Given the description of an element on the screen output the (x, y) to click on. 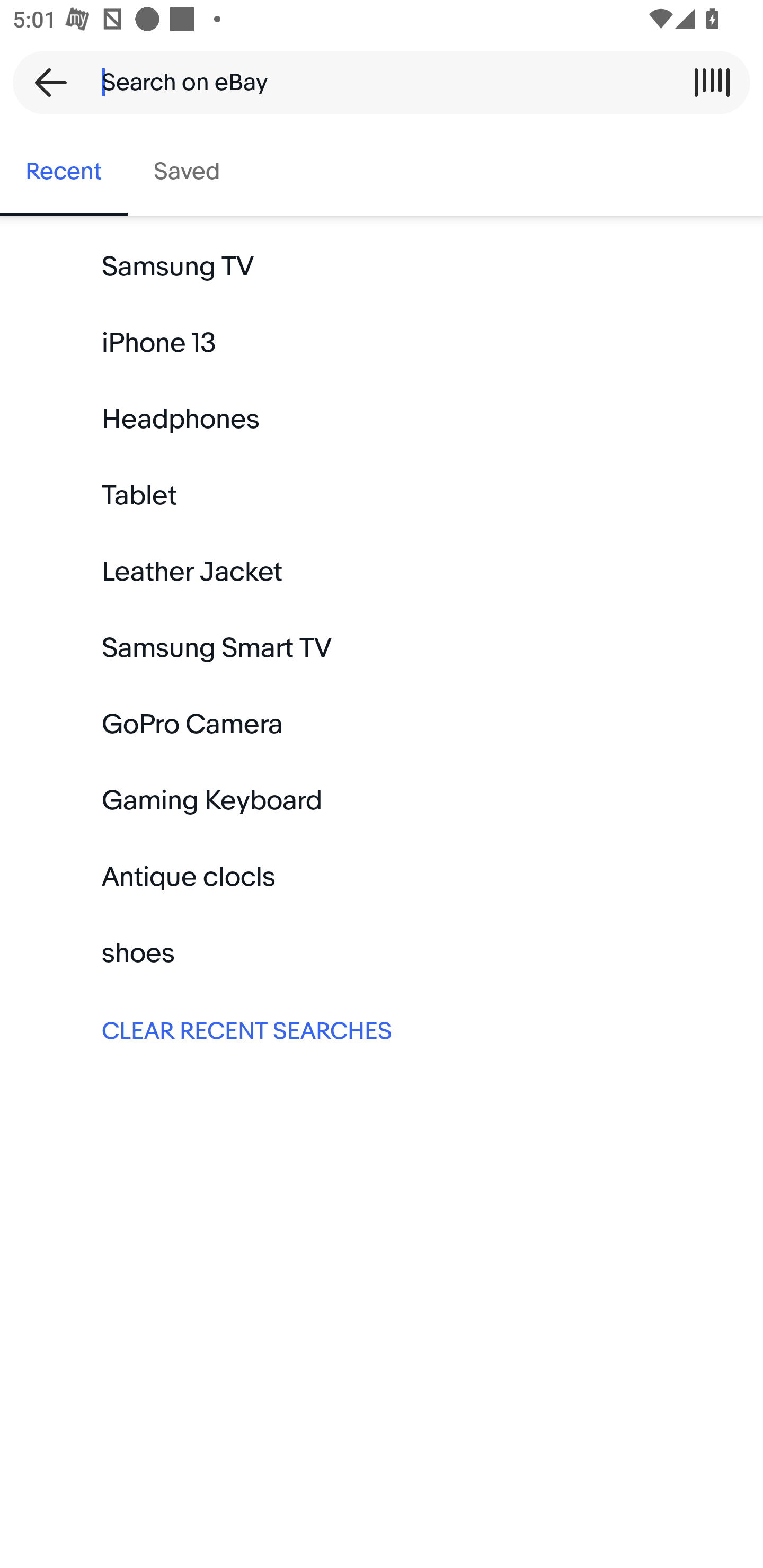
Back (44, 82)
Scan a barcode (711, 82)
Search on eBay (375, 82)
Saved, tab 2 of 2 Saved (186, 171)
Samsung TV Keyword search Samsung TV: (381, 266)
iPhone 13 Keyword search iPhone 13: (381, 343)
Headphones Keyword search Headphones: (381, 419)
Tablet Keyword search Tablet: (381, 495)
Leather Jacket Keyword search Leather Jacket: (381, 571)
Samsung Smart TV Keyword search Samsung Smart TV: (381, 647)
GoPro Camera Keyword search GoPro Camera: (381, 724)
Gaming Keyboard Keyword search Gaming Keyboard: (381, 800)
Antique clocls Keyword search Antique clocls: (381, 876)
shoes Keyword search shoes: (381, 952)
CLEAR RECENT SEARCHES (381, 1028)
